Given the description of an element on the screen output the (x, y) to click on. 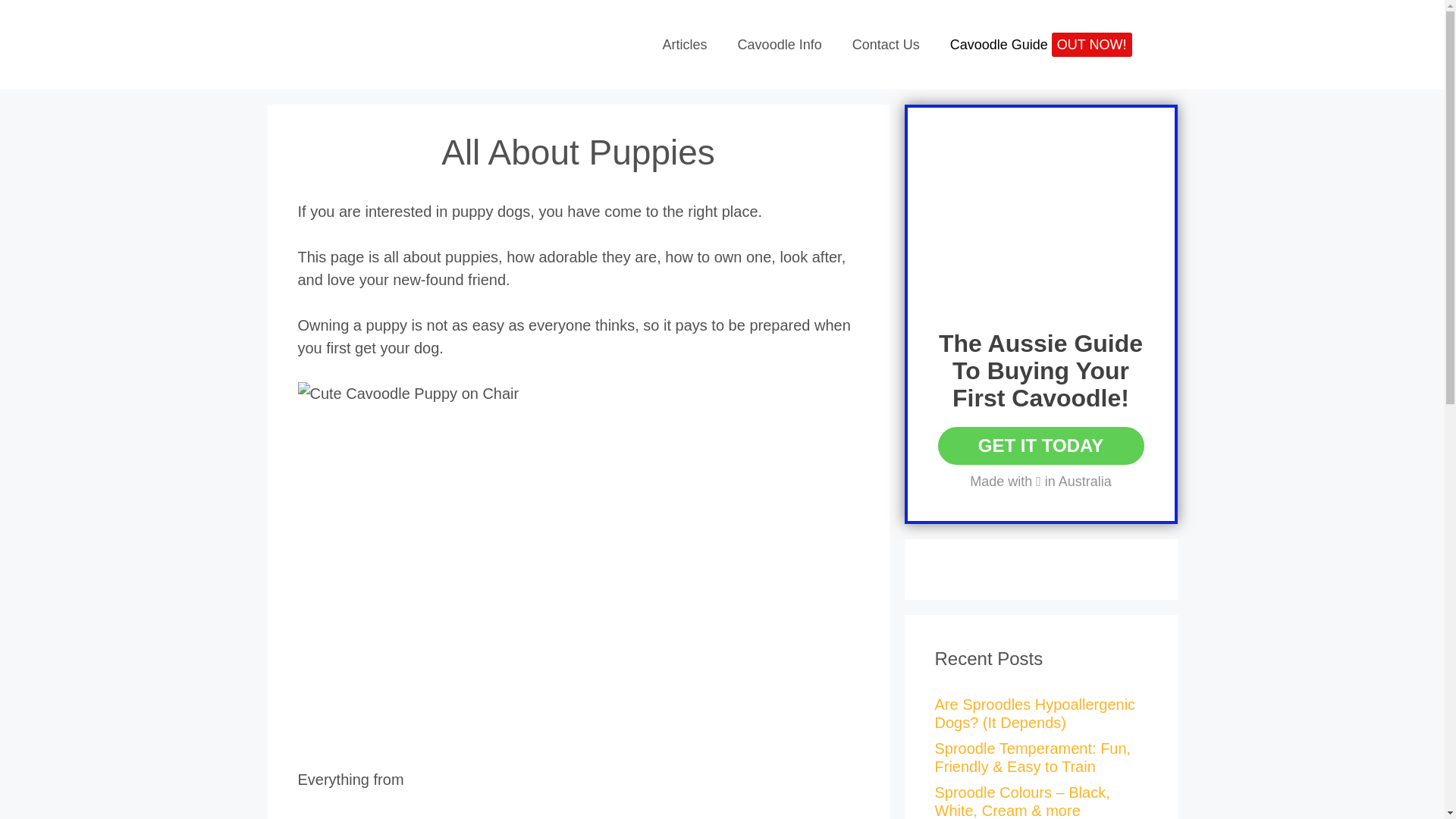
Cavoodle Guide Element type: text (1041, 44)
Are Sproodles Hypoallergenic Dogs? (It Depends) Element type: text (1034, 713)
Articles Element type: text (684, 44)
Cavoodle Info Element type: text (779, 44)
Contact Us Element type: text (886, 44)
Sproodle Temperament: Fun, Friendly & Easy to Train Element type: text (1032, 757)
GET IT TODAY Element type: text (1040, 445)
